Given the description of an element on the screen output the (x, y) to click on. 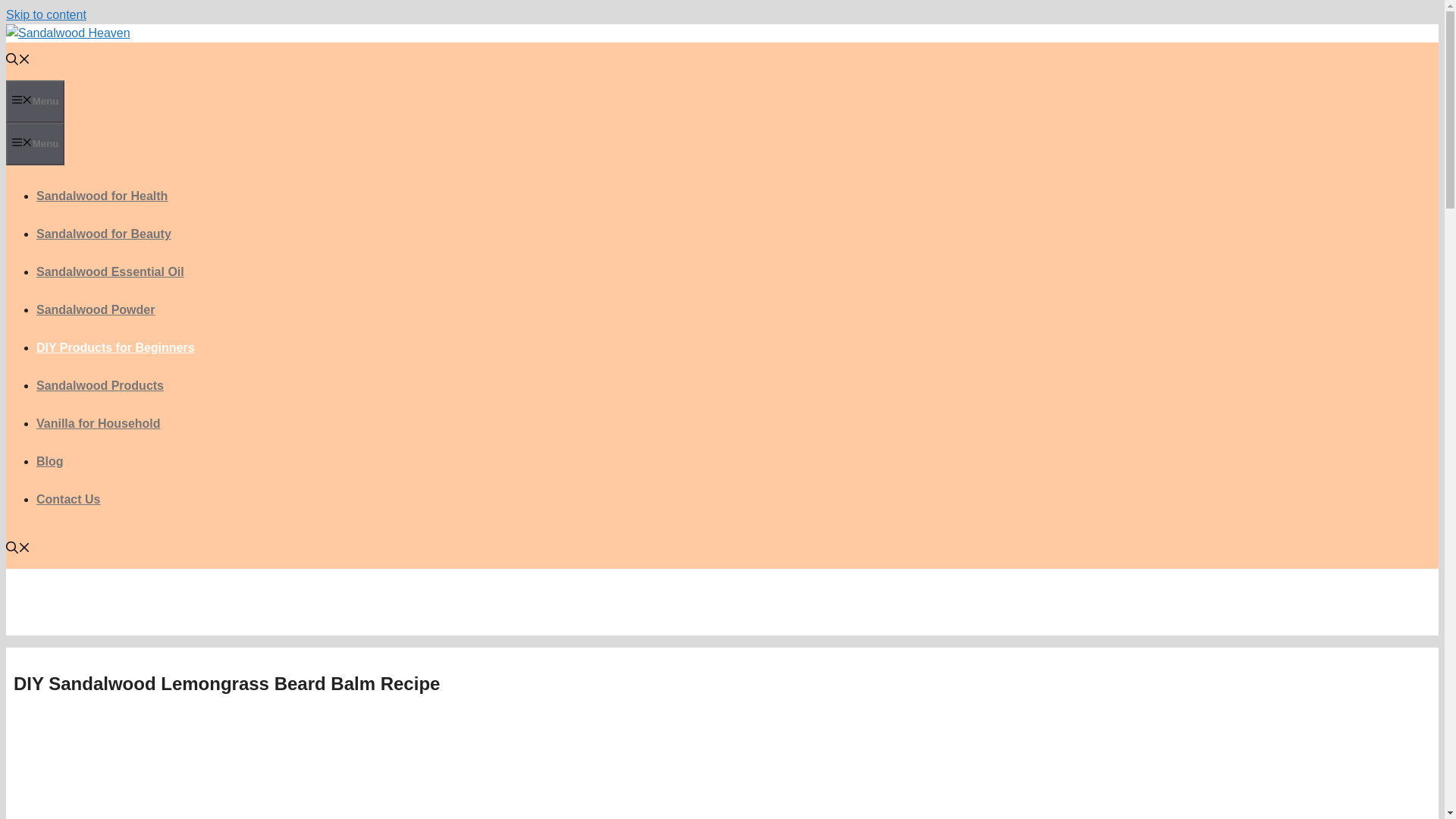
Menu (34, 143)
Sandalwood Powder (95, 309)
Sandalwood for Beauty (103, 233)
Sandalwood Products (99, 385)
Skip to content (45, 14)
Skip to content (45, 14)
Sandalwood for Health (101, 195)
Blog (50, 461)
Sandalwood Essential Oil (110, 271)
Menu (34, 101)
